Given the description of an element on the screen output the (x, y) to click on. 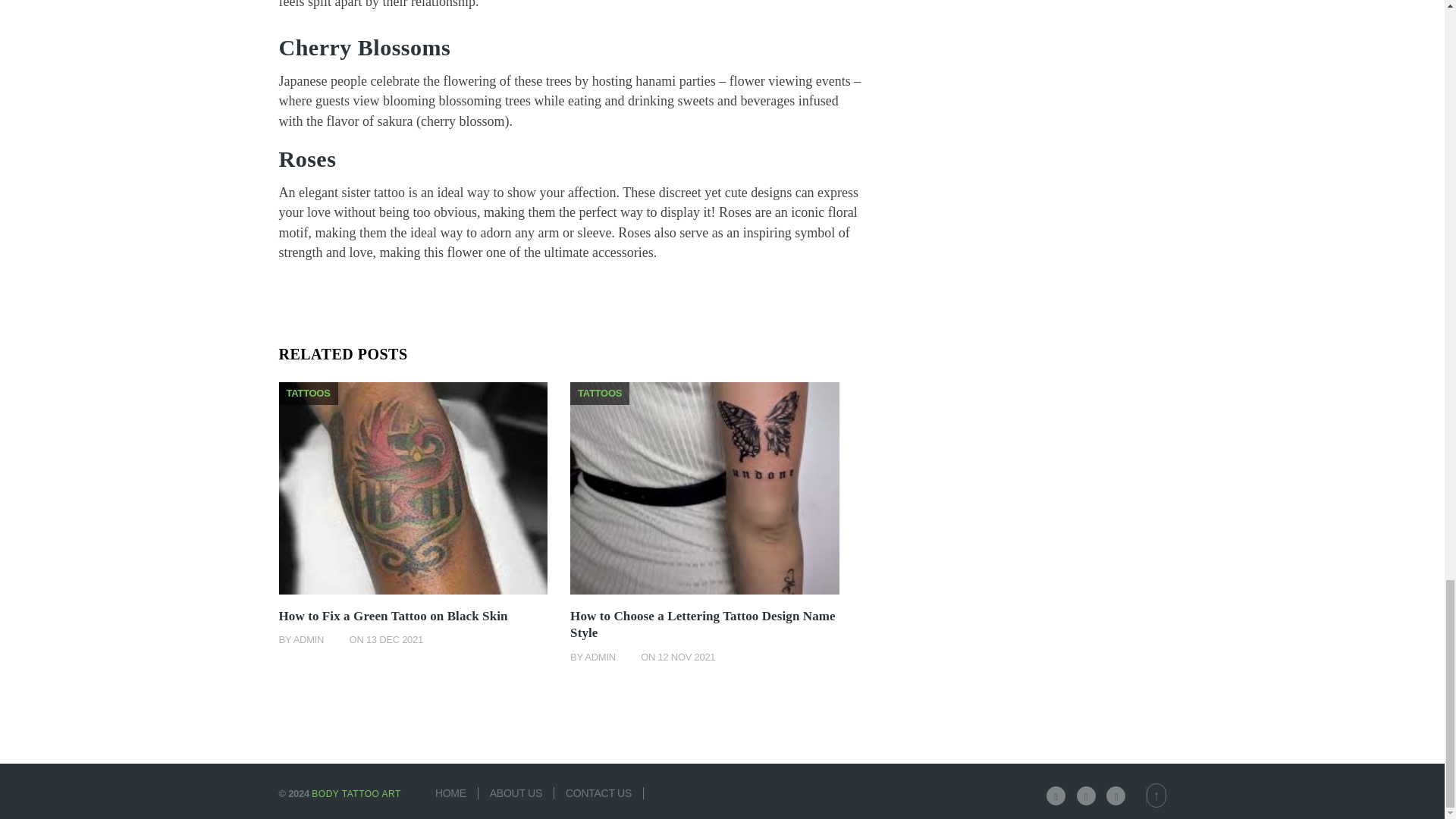
TATTOOS (308, 392)
